Given the description of an element on the screen output the (x, y) to click on. 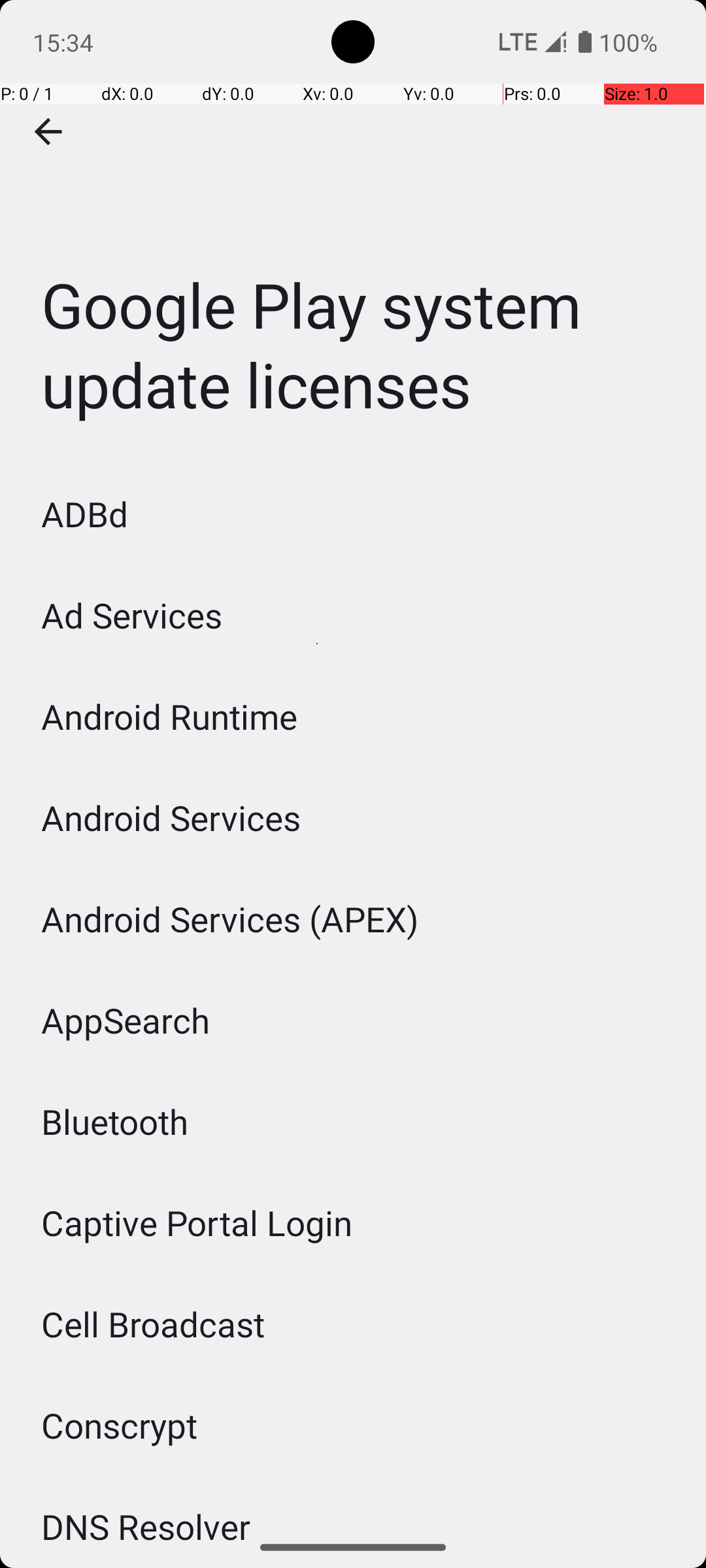
Google Play system update licenses Element type: android.widget.FrameLayout (353, 231)
ADBd Element type: android.widget.TextView (84, 513)
Ad Services Element type: android.widget.TextView (131, 614)
Android Runtime Element type: android.widget.TextView (169, 716)
Android Services Element type: android.widget.TextView (170, 817)
Android Services (APEX) Element type: android.widget.TextView (229, 918)
AppSearch Element type: android.widget.TextView (125, 1019)
Bluetooth Element type: android.widget.TextView (114, 1121)
Captive Portal Login Element type: android.widget.TextView (196, 1222)
Cell Broadcast Element type: android.widget.TextView (153, 1323)
Conscrypt Element type: android.widget.TextView (119, 1425)
DNS Resolver Element type: android.widget.TextView (145, 1514)
